Given the description of an element on the screen output the (x, y) to click on. 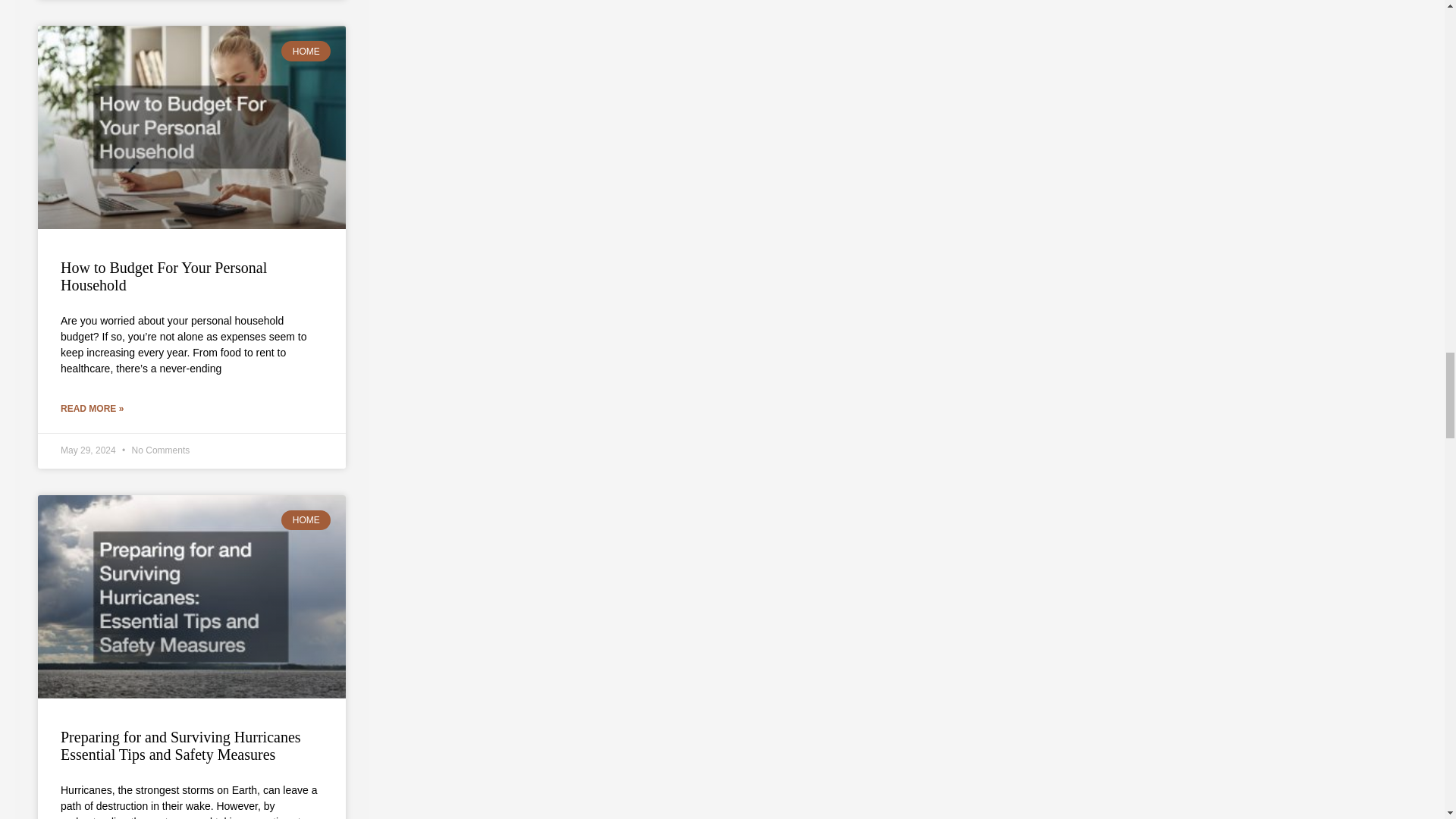
How to Budget For Your Personal Household (163, 276)
